Given the description of an element on the screen output the (x, y) to click on. 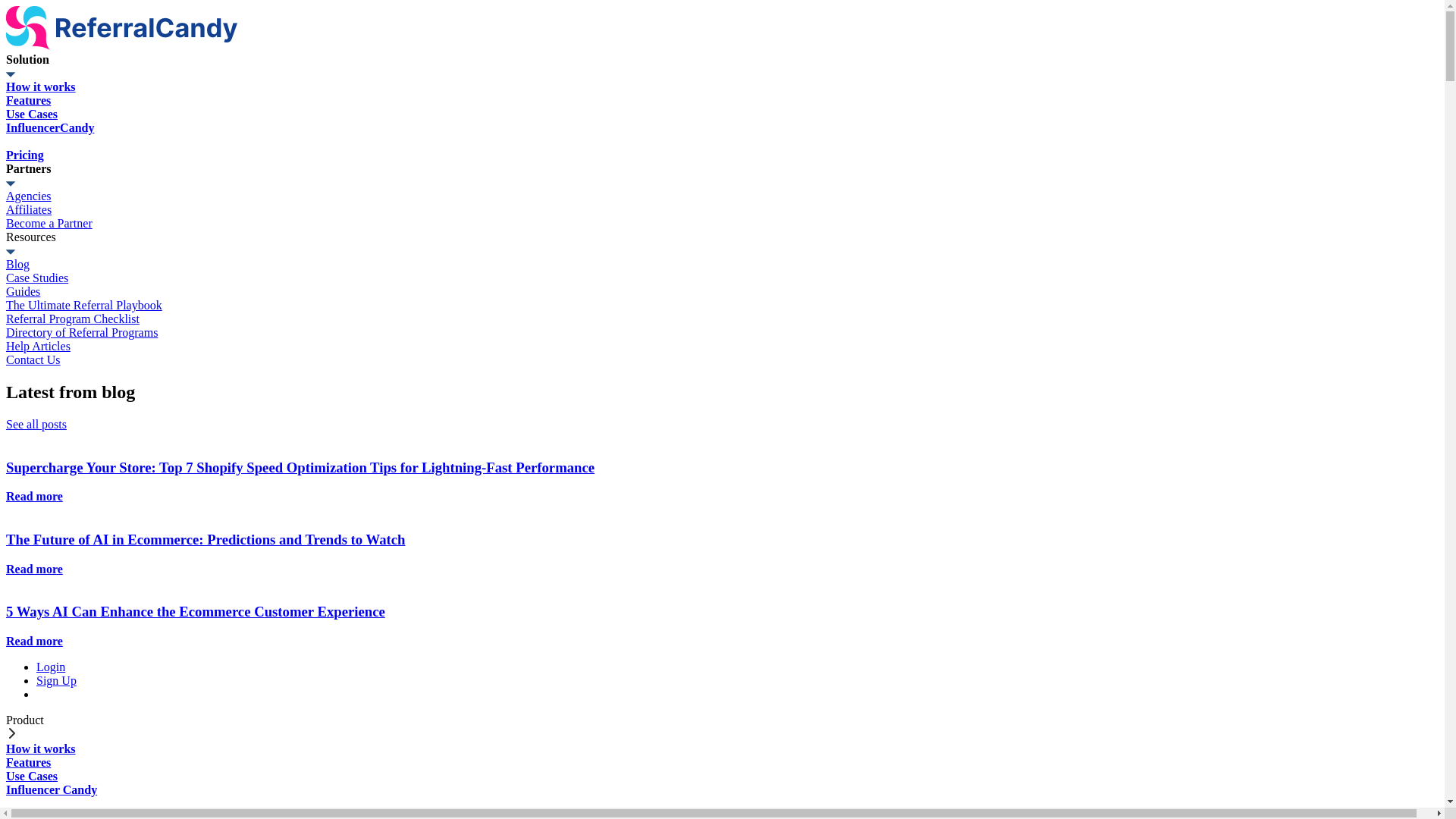
Guides Element type: text (722, 291)
How it works Element type: text (722, 87)
Referral Program Checklist Element type: text (722, 319)
InfluencerCandy Element type: text (722, 134)
Influencer Candy Element type: text (722, 796)
See all posts Element type: text (36, 423)
Blog Element type: text (722, 264)
Help Articles Element type: text (722, 346)
How it works Element type: text (722, 749)
Case Studies Element type: text (722, 278)
Affiliates Element type: text (722, 209)
Features Element type: text (722, 762)
Become a Partner Element type: text (722, 223)
Use Cases Element type: text (722, 114)
Pricing Element type: text (722, 155)
Agencies Element type: text (722, 196)
Use Cases Element type: text (722, 776)
Features Element type: text (722, 100)
Sign Up Element type: text (56, 680)
Contact Us Element type: text (722, 360)
The Ultimate Referral Playbook Element type: text (722, 305)
Directory of Referral Programs Element type: text (722, 332)
Login Element type: text (50, 666)
